Given the description of an element on the screen output the (x, y) to click on. 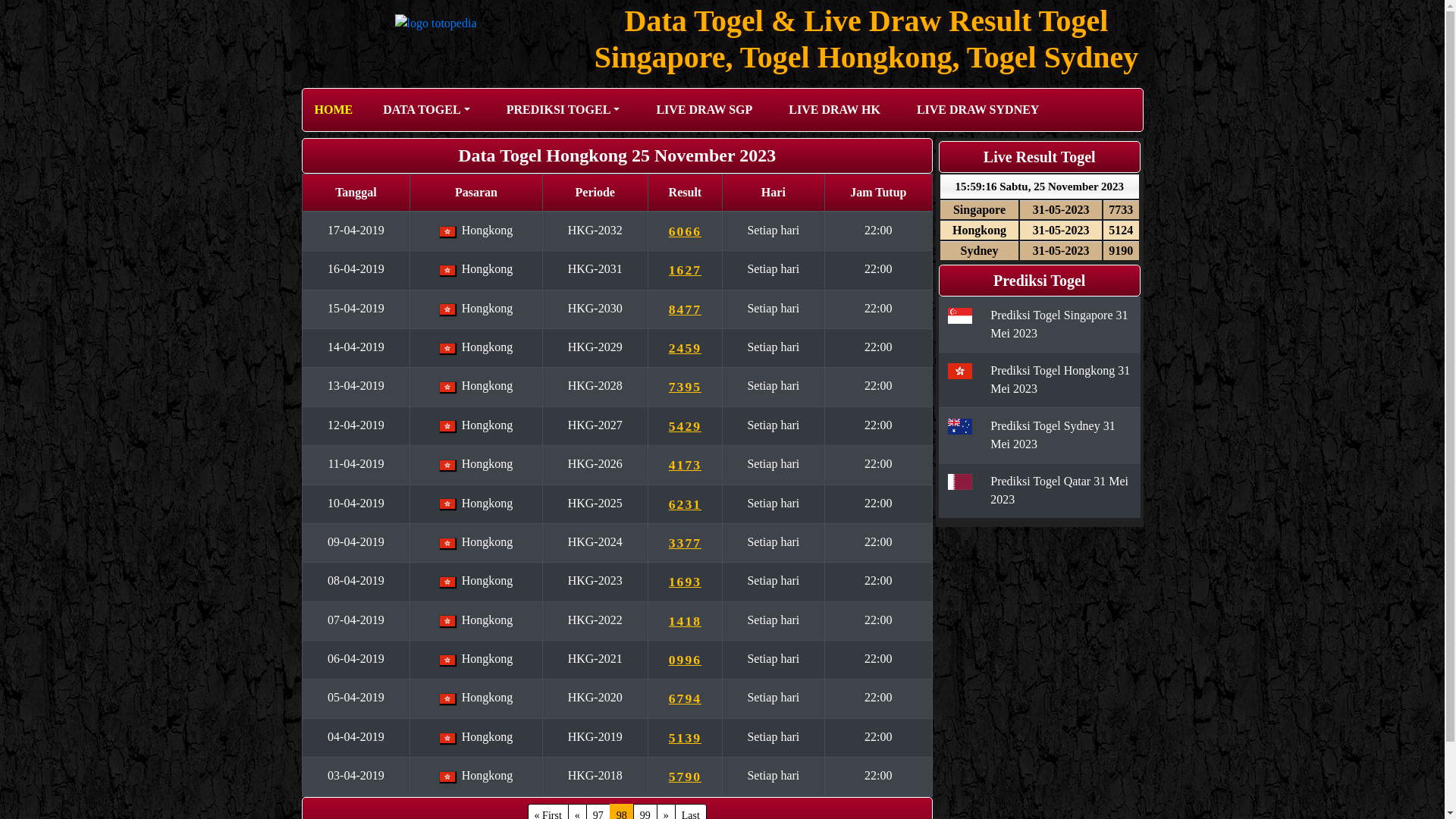
DATA TOGEL Element type: text (425, 109)
LIVE DRAW SYDNEY Element type: text (977, 109)
PREDIKSI TOGEL Element type: text (563, 109)
HOME Element type: text (332, 109)
LIVE DRAW SGP Element type: text (703, 109)
Prediksi Togel Sydney 31 Mei 2023 Element type: text (1052, 433)
Prediksi Togel Hongkong 31 Mei 2023 Element type: text (1059, 379)
Prediksi Togel Singapore 31 Mei 2023 Element type: text (1058, 322)
LIVE DRAW HK Element type: text (834, 109)
Prediksi Togel Qatar 31 Mei 2023 Element type: text (1059, 489)
